Given the description of an element on the screen output the (x, y) to click on. 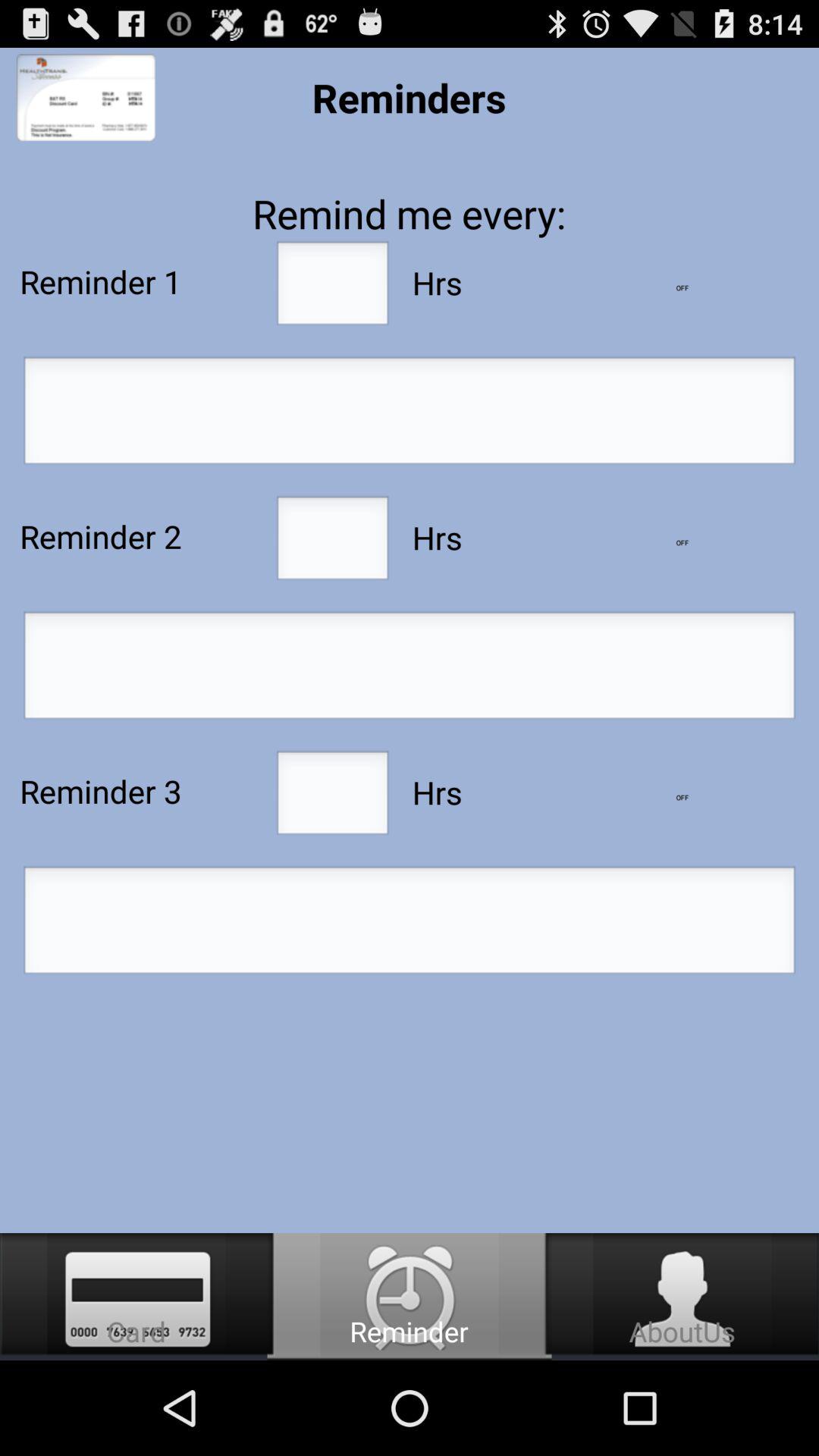
lower number of hours (682, 287)
